Given the description of an element on the screen output the (x, y) to click on. 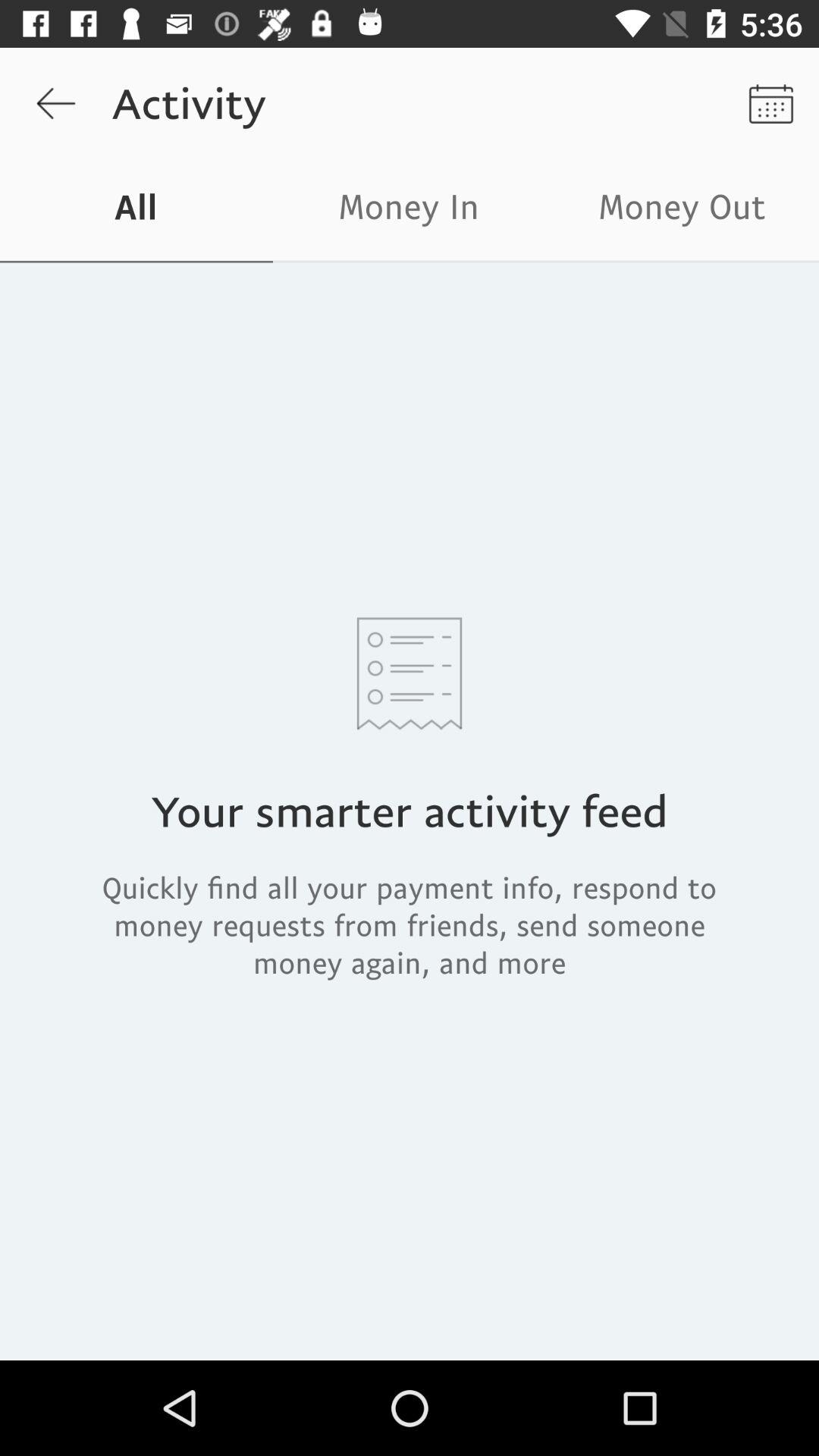
click the icon next to activity (771, 103)
